Given the description of an element on the screen output the (x, y) to click on. 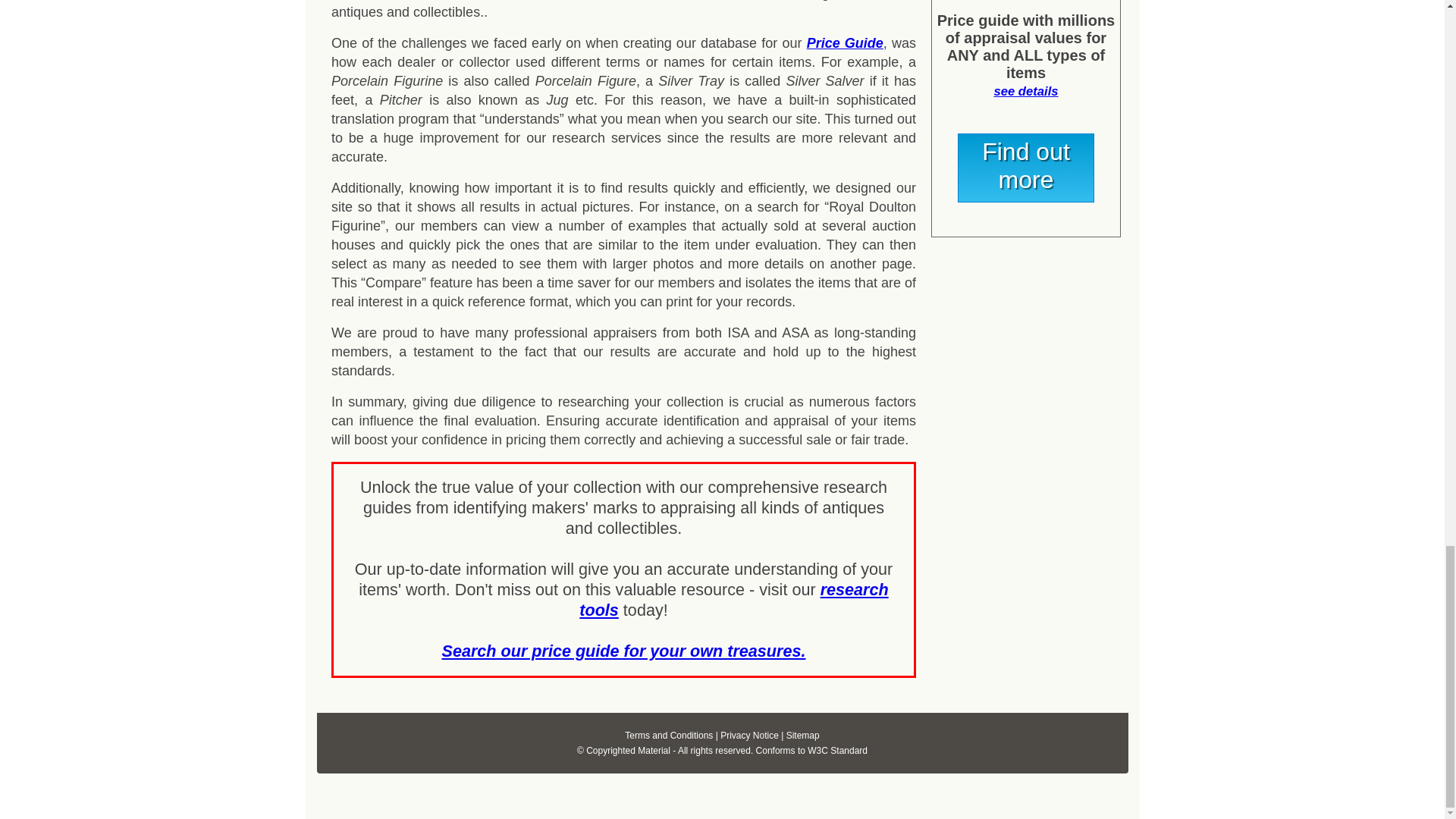
Terms and Conditions (668, 735)
Price Guide (844, 43)
Find out more (1026, 167)
see details (1025, 91)
research tools (733, 599)
Privacy Notice (749, 735)
Search our price guide for your own treasures. (623, 650)
Sitemap (802, 735)
